Given the description of an element on the screen output the (x, y) to click on. 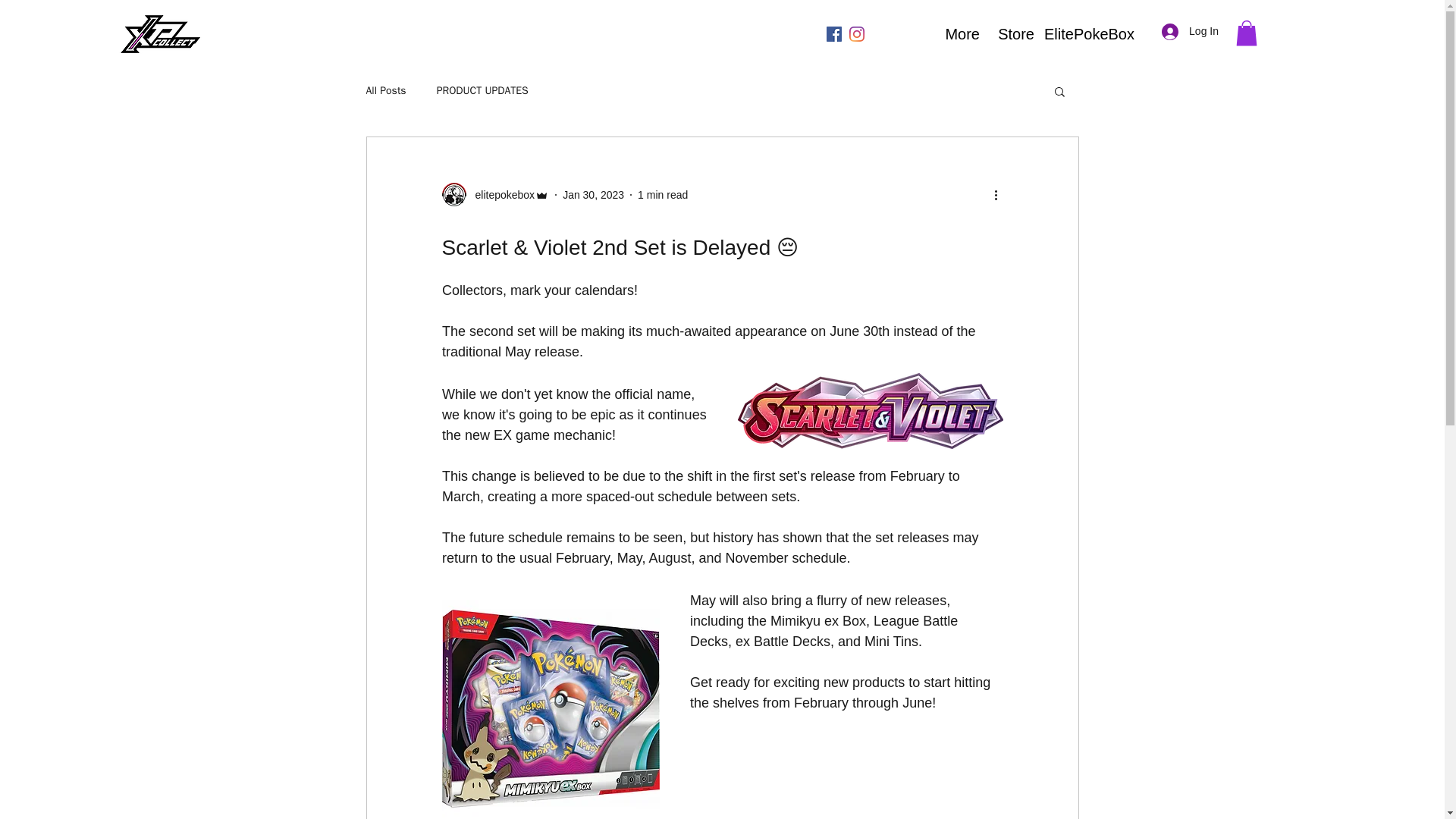
Store (1018, 33)
Jan 30, 2023 (593, 194)
All Posts (385, 90)
Log In (1189, 31)
PRODUCT UPDATES (482, 90)
elitepokebox (499, 195)
ElitePokeBox (1095, 33)
1 min read (662, 194)
elitepokebox (494, 194)
